Given the description of an element on the screen output the (x, y) to click on. 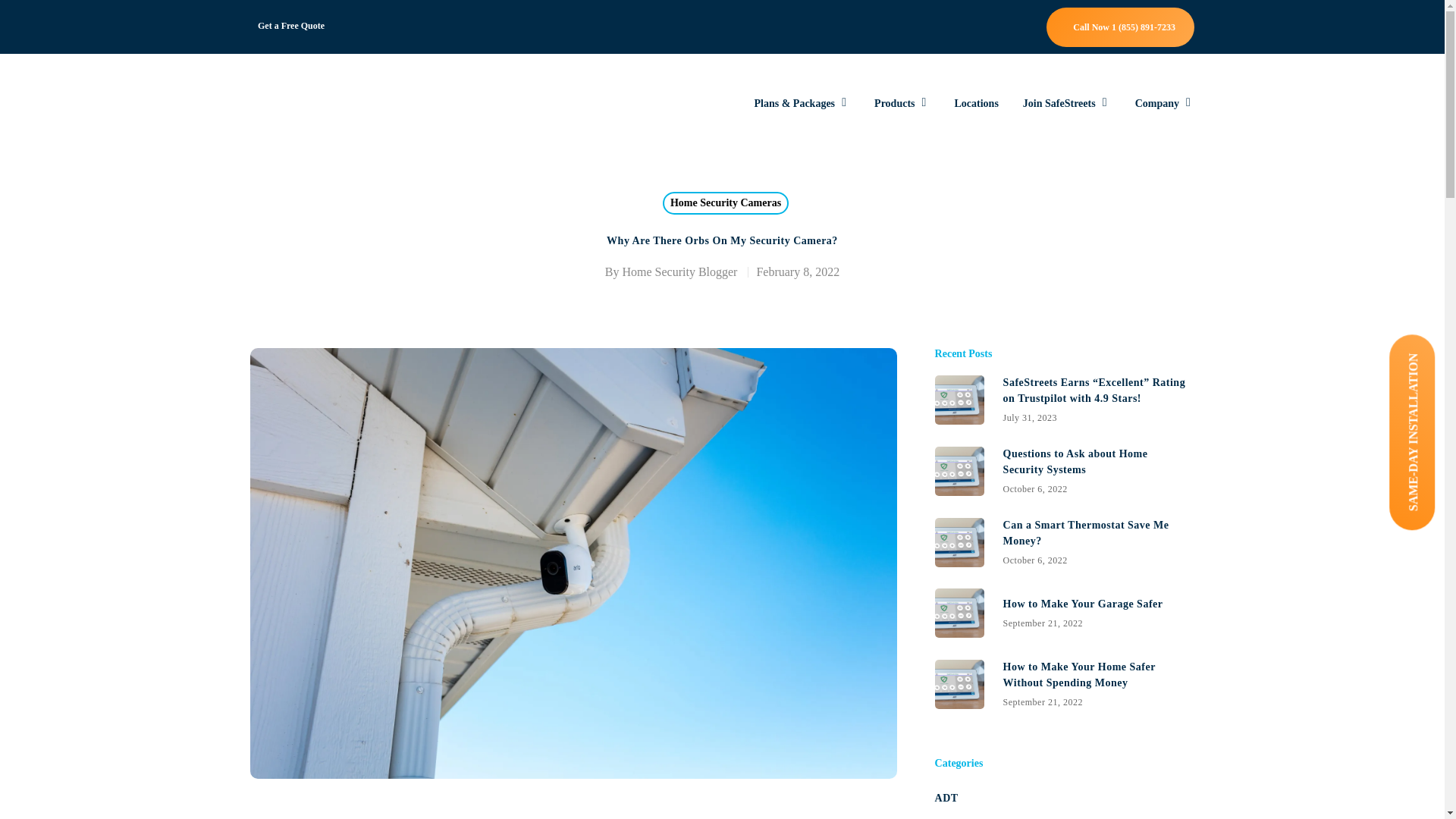
Home Security Blogger (678, 271)
Locations (975, 103)
Join SafeStreets (1066, 103)
Posts by Home Security Blogger (678, 271)
Get a Free Quote (1063, 470)
Products (290, 25)
Company (902, 103)
Home Security Cameras (1164, 103)
